Given the description of an element on the screen output the (x, y) to click on. 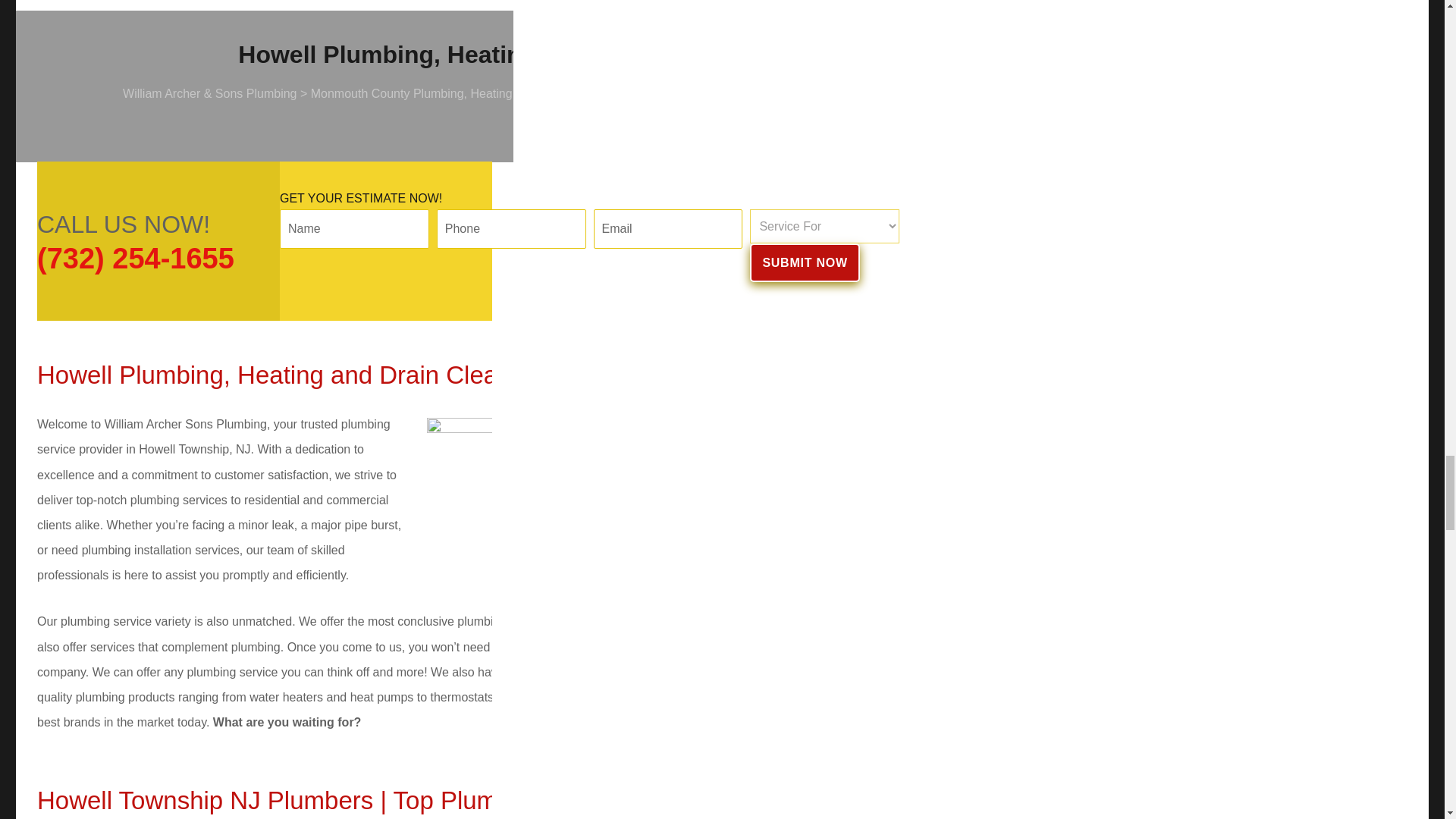
Go to Monmouth County Plumbing, Heating and Drain Cleaning. (465, 92)
SUBMIT NOW (804, 262)
